Given the description of an element on the screen output the (x, y) to click on. 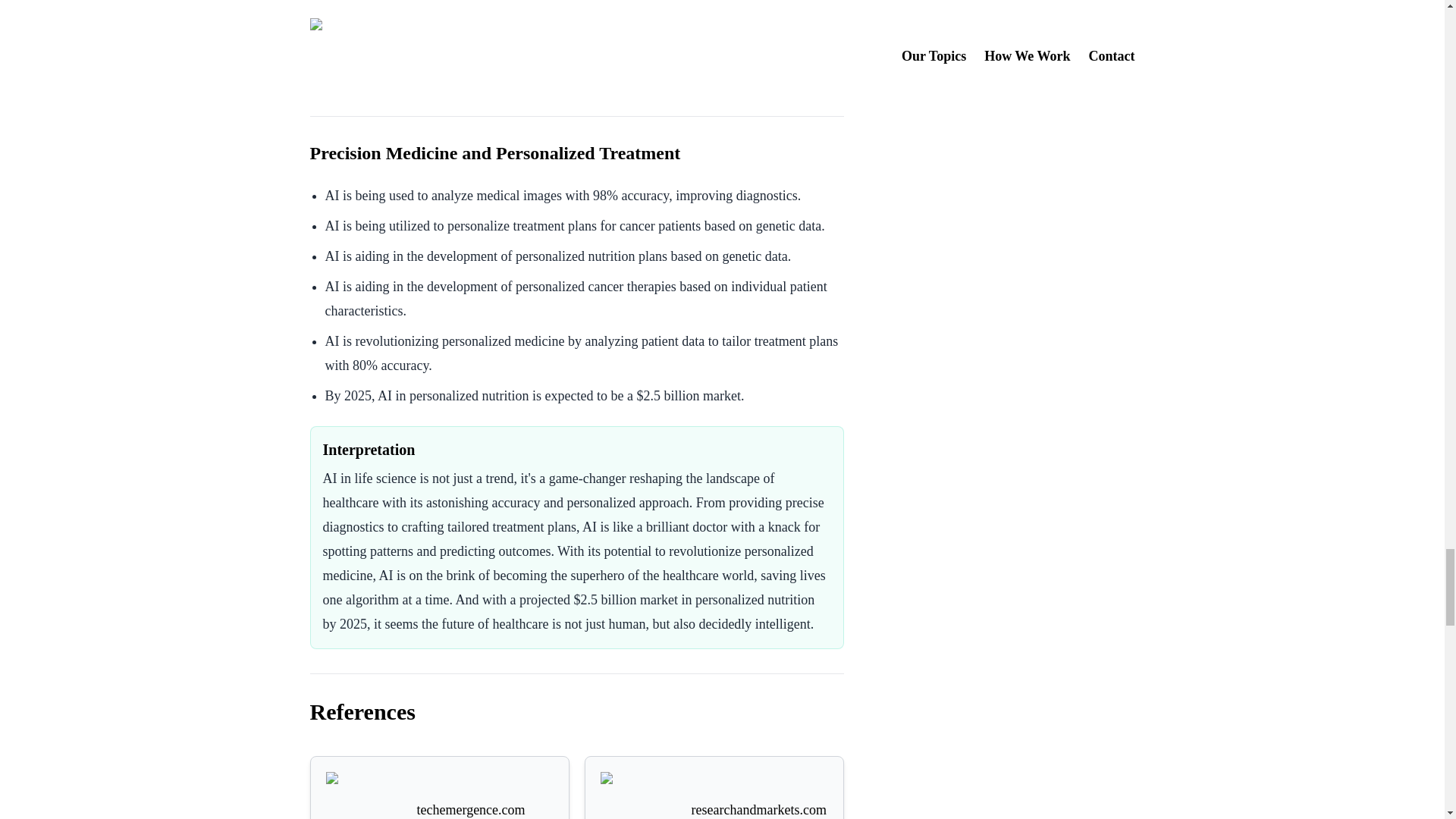
techemergence.com (439, 795)
Logo of techemergence.com (363, 795)
Logo of researchandmarkets.com (638, 795)
researchandmarkets.com (713, 795)
